Given the description of an element on the screen output the (x, y) to click on. 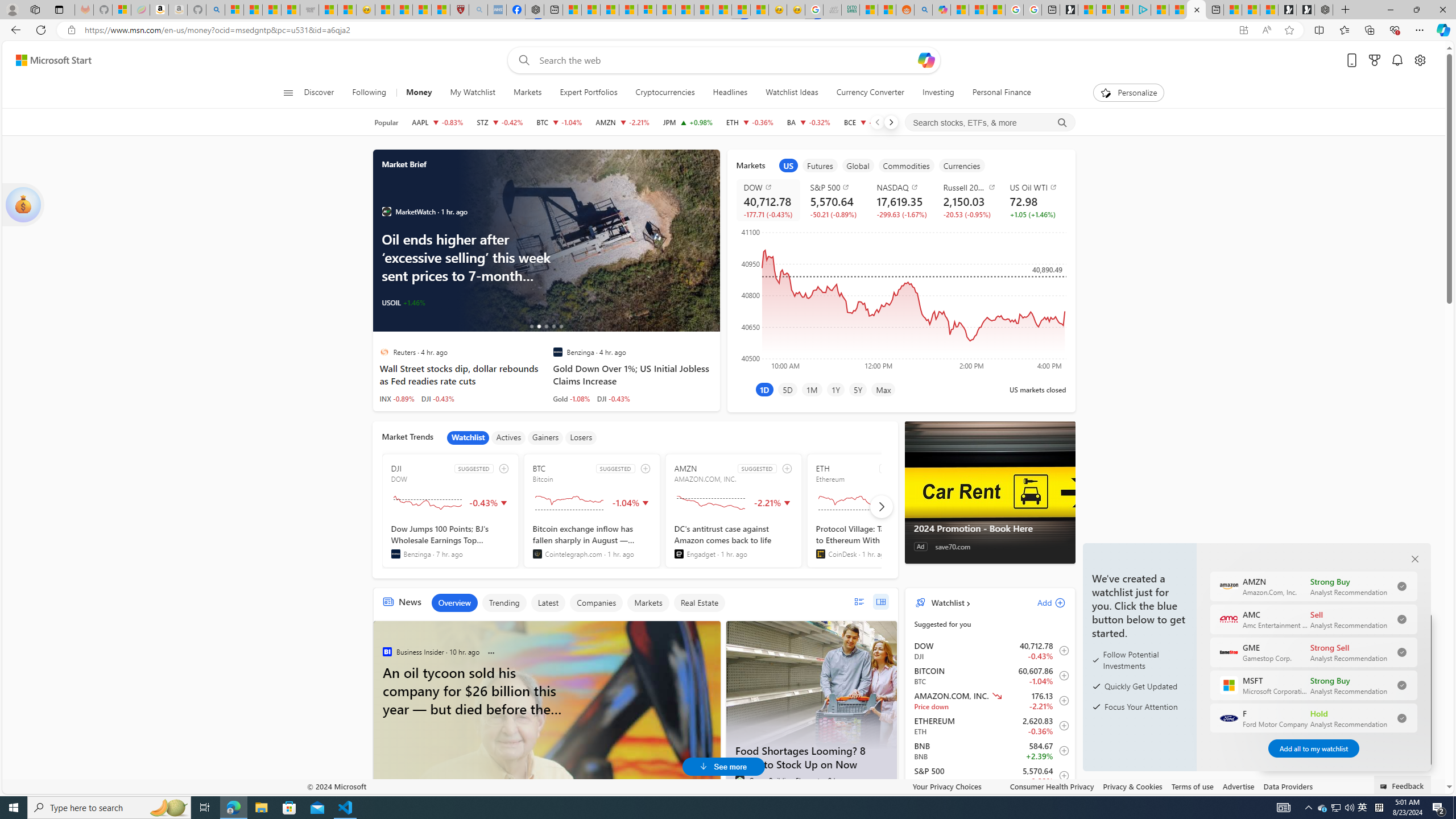
Engadget (679, 553)
Skip to footer (46, 59)
DJI SUGGESTED DOW (449, 510)
list layout (858, 601)
BTC SUGGESTED Bitcoin (591, 510)
BTC Bitcoin decrease 60,607.86 -629.74 -1.04% item1 (989, 675)
Recipes - MSN (383, 9)
NASDAQ COMP decrease 17,619.35 -299.63 -1.67% (901, 200)
Open settings (1420, 60)
Class: recharts-surface (900, 298)
